Given the description of an element on the screen output the (x, y) to click on. 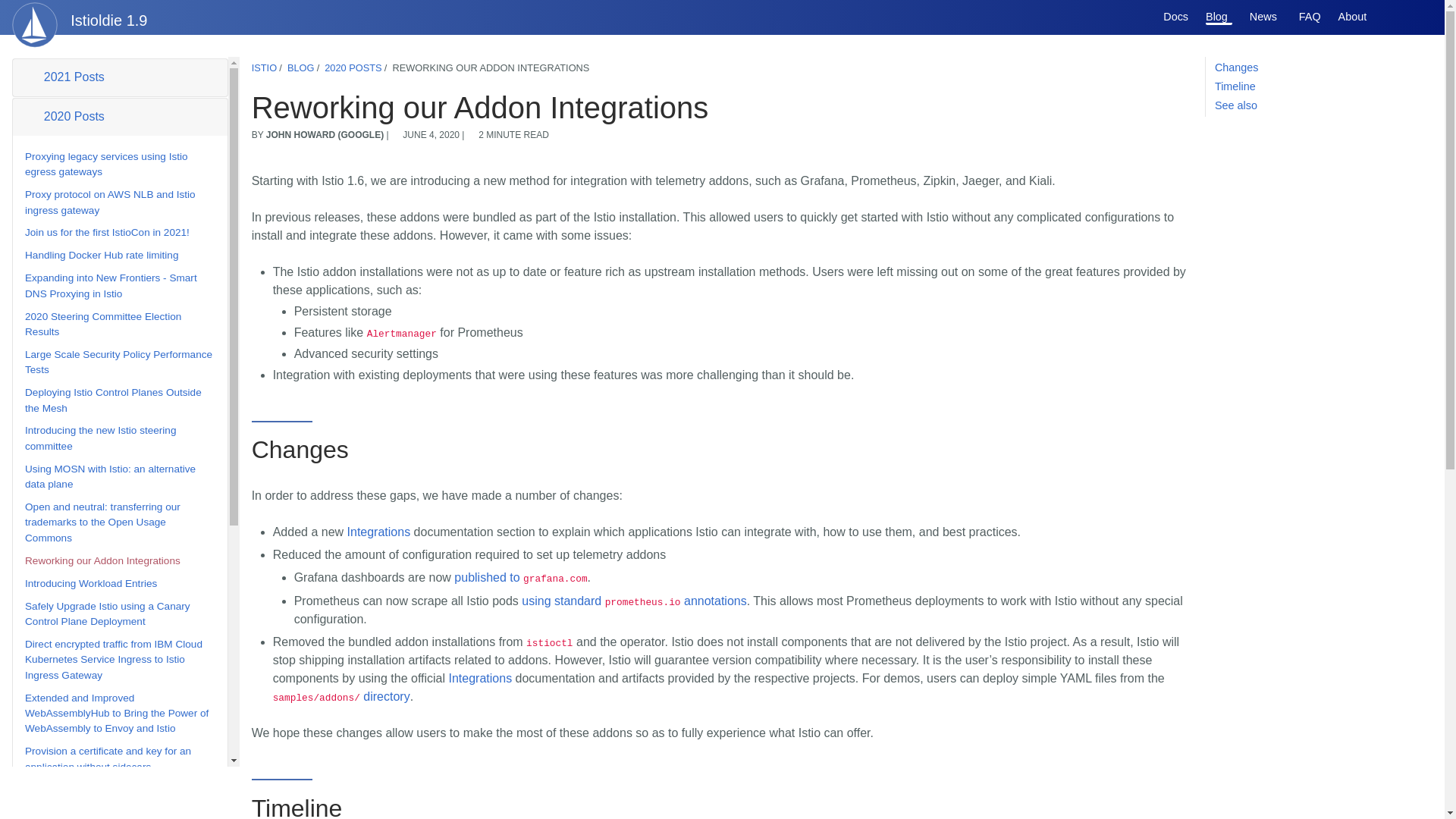
2020 Posts (120, 116)
Proxy protocol on AWS NLB and Istio ingress gateway (109, 202)
Expanding into New Frontiers - Smart DNS Proxying in Istio (110, 284)
Blog posts for 2021. (120, 77)
Introducing the new Istio steering committee (100, 438)
Docs (1175, 16)
Timely news about the Istio project. (1265, 16)
FAQ (1309, 16)
Large Scale Security Policy Performance Tests (118, 361)
Proxying legacy services using Istio egress gateways (105, 163)
Introducing Workload Entries (90, 583)
Search this site (1414, 16)
Options and settings (1386, 16)
Using MOSN with Istio: an alternative data plane (109, 476)
